Given the description of an element on the screen output the (x, y) to click on. 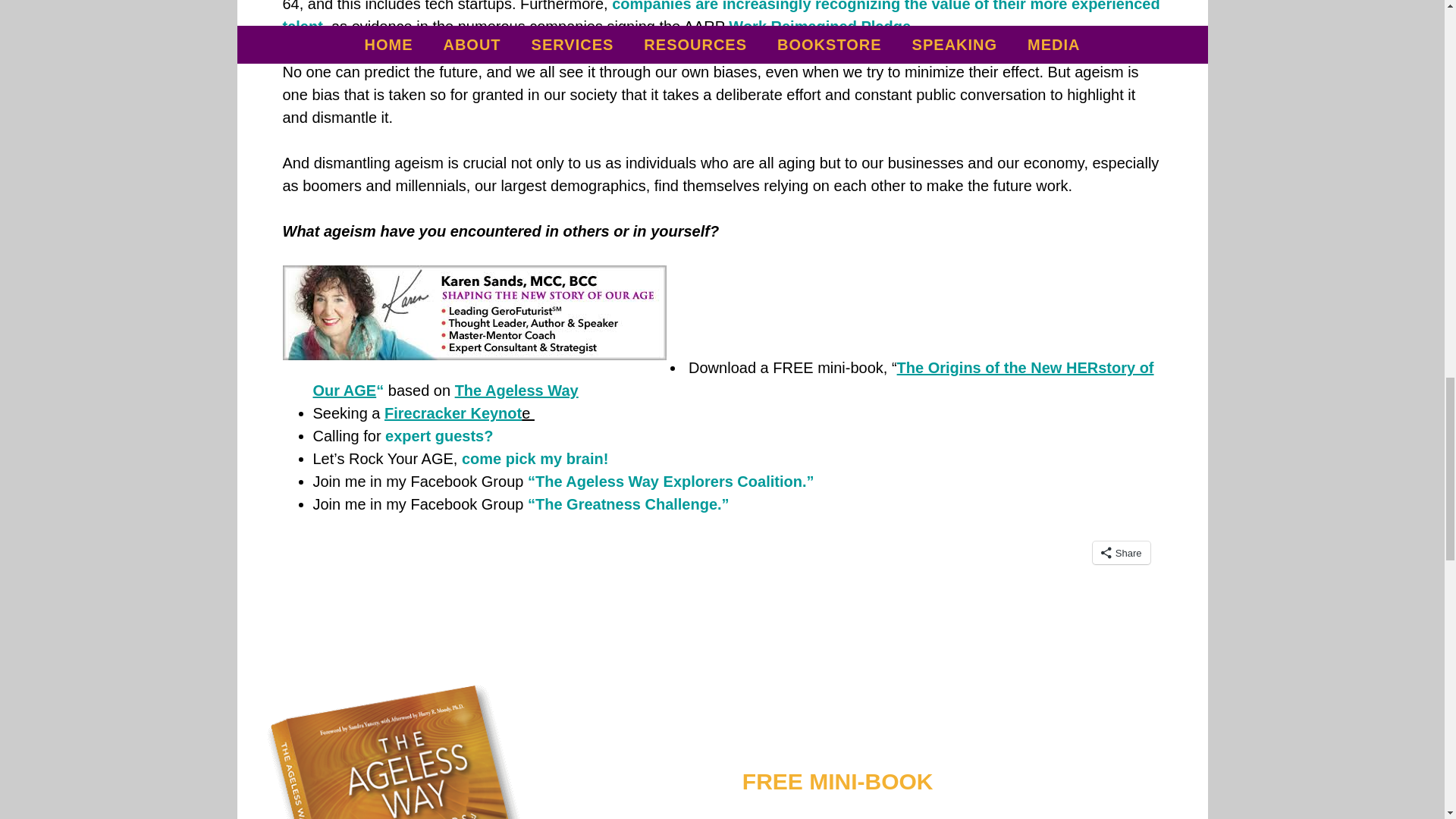
 come pick my brain! (532, 458)
expert guests? (439, 435)
Firecracker Keynot (452, 412)
The Ageless Way  (518, 390)
Share (1121, 552)
Work Reimagined Pledge (820, 26)
